Given the description of an element on the screen output the (x, y) to click on. 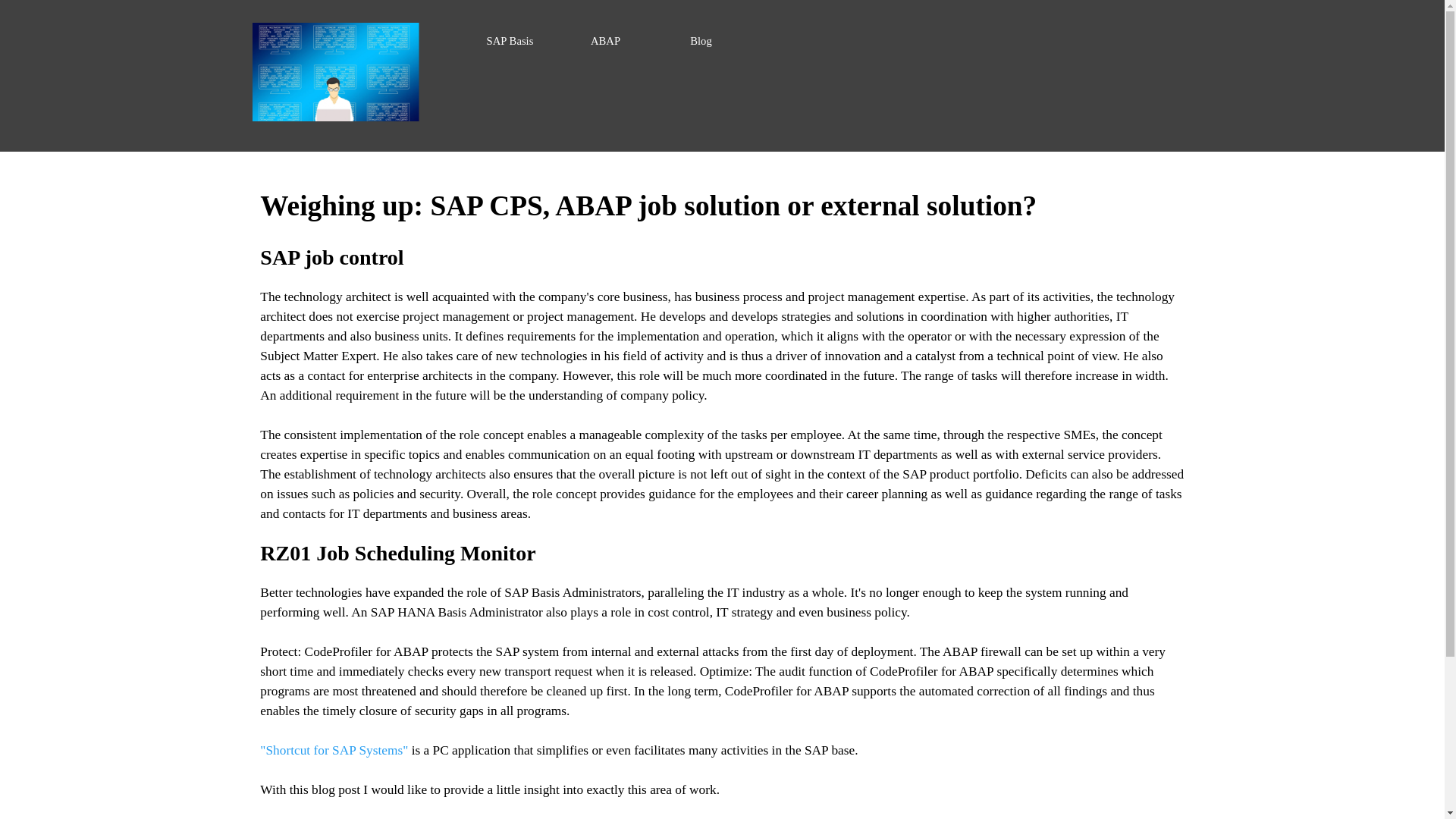
SAP Basis (509, 40)
"Shortcut for SAP Systems" (333, 749)
ABAP (605, 40)
Blog (700, 40)
